Given the description of an element on the screen output the (x, y) to click on. 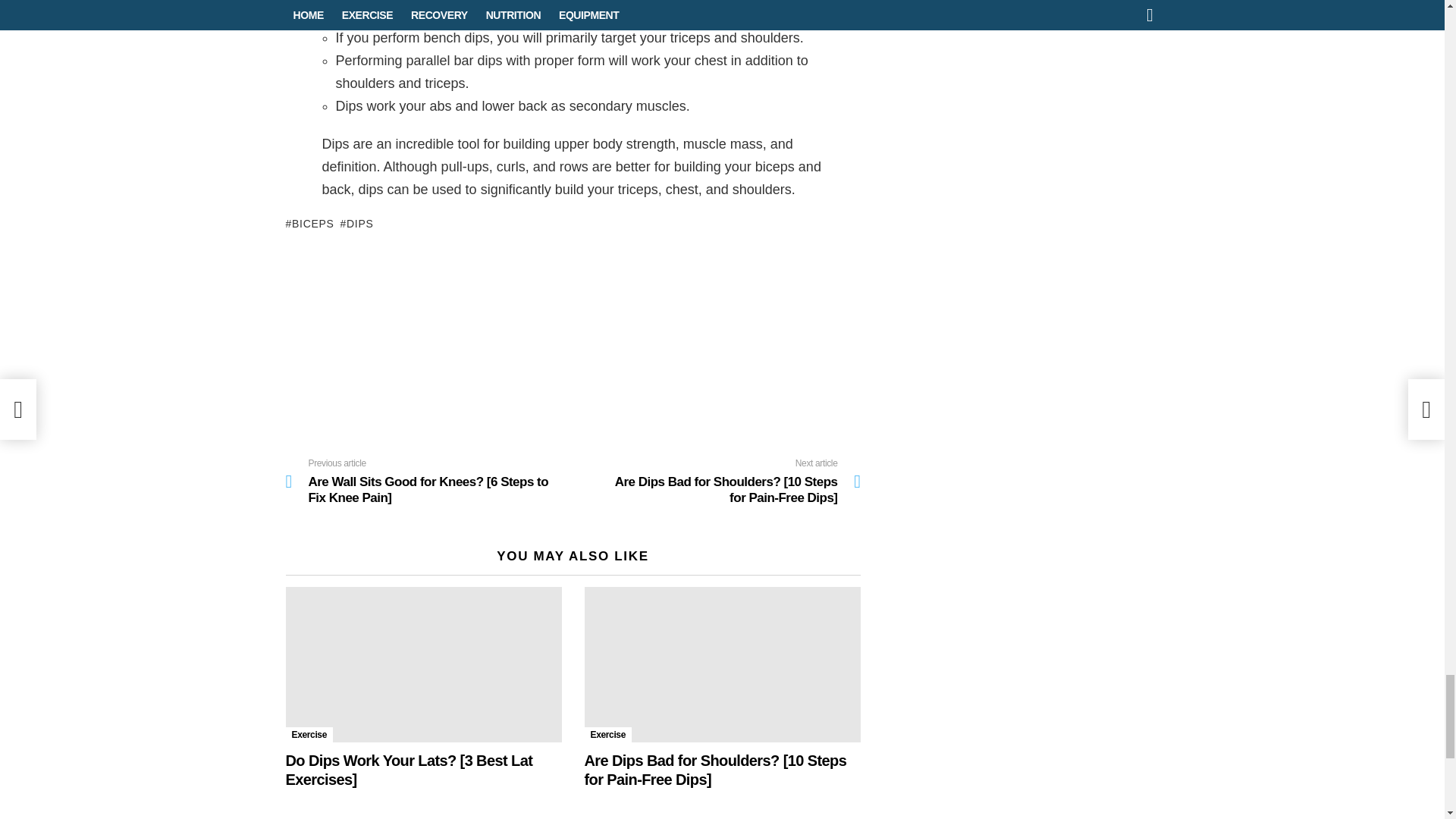
DIPS (357, 223)
Exercise (309, 734)
Exercise (607, 734)
BICEPS (309, 223)
